Given the description of an element on the screen output the (x, y) to click on. 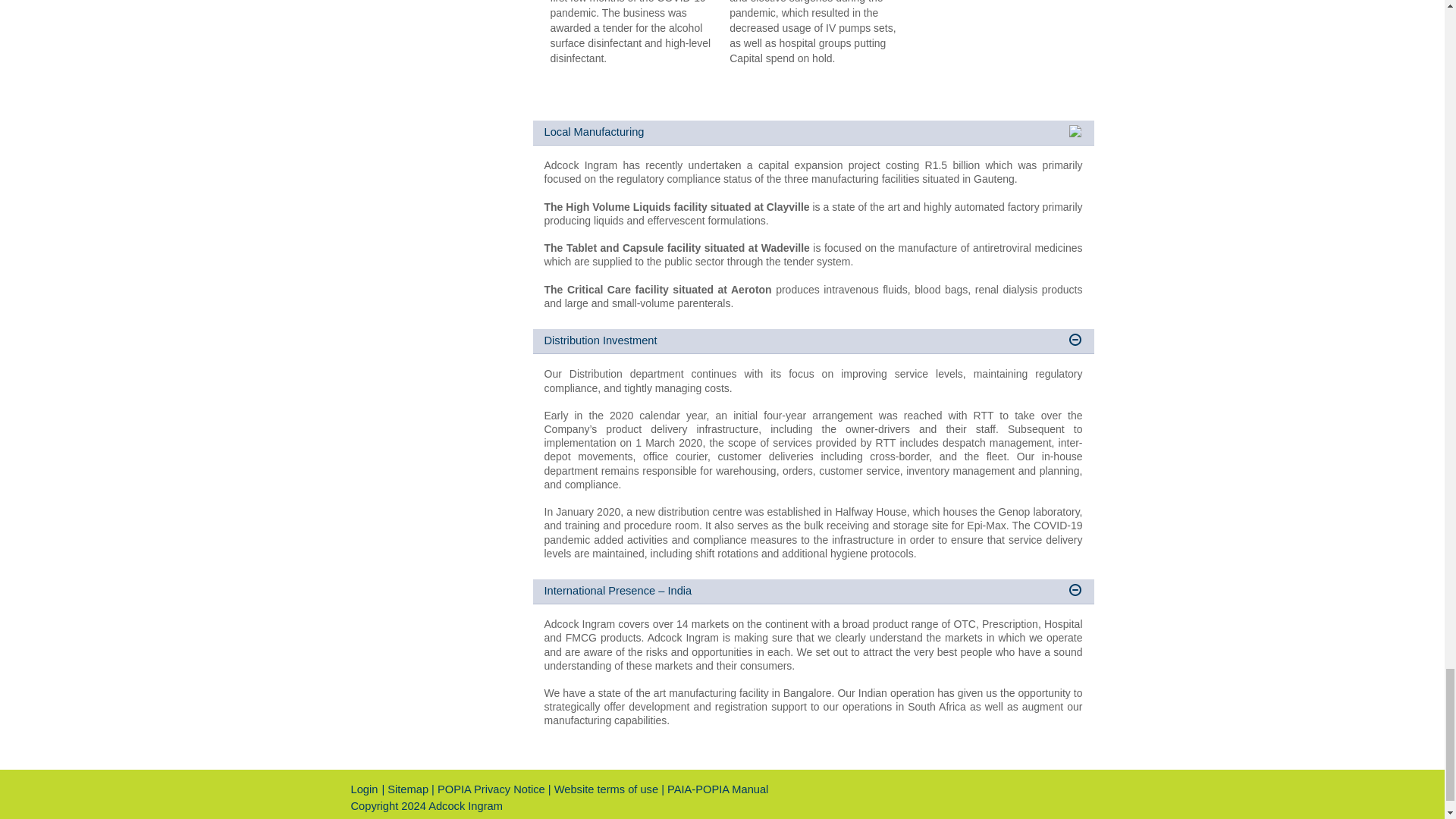
POPIA Privacy Notice (491, 788)
Sitemap (407, 788)
Local Manufacturing (812, 132)
PAIA-POPIA Manual (717, 788)
Login (363, 788)
Distribution Investment (812, 341)
Website terms of use (607, 788)
